Given the description of an element on the screen output the (x, y) to click on. 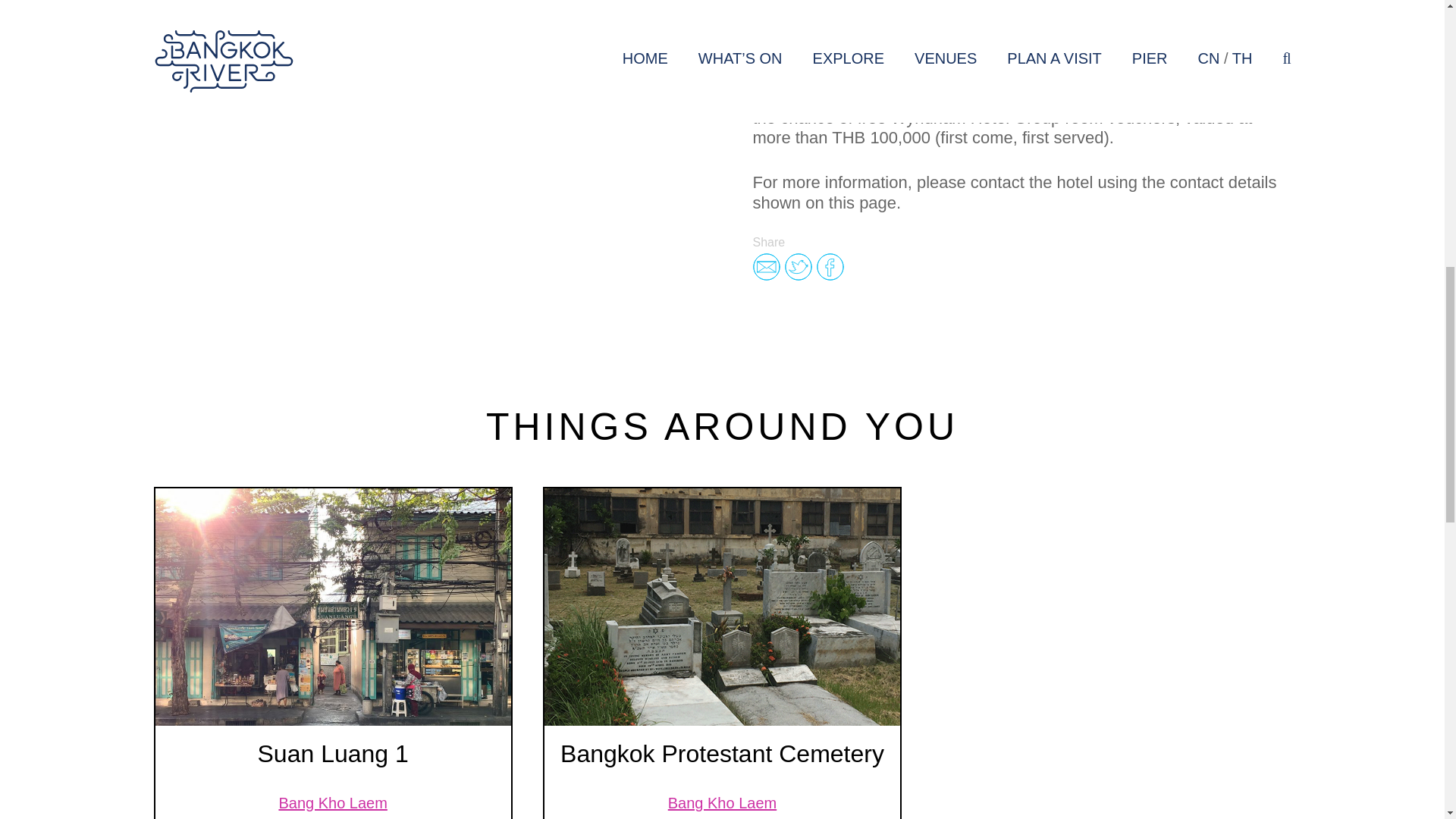
Email (765, 266)
Bang Kho Laem (332, 802)
Twitter (797, 266)
Suan Luang 1 (333, 753)
Facebook (829, 266)
